Given the description of an element on the screen output the (x, y) to click on. 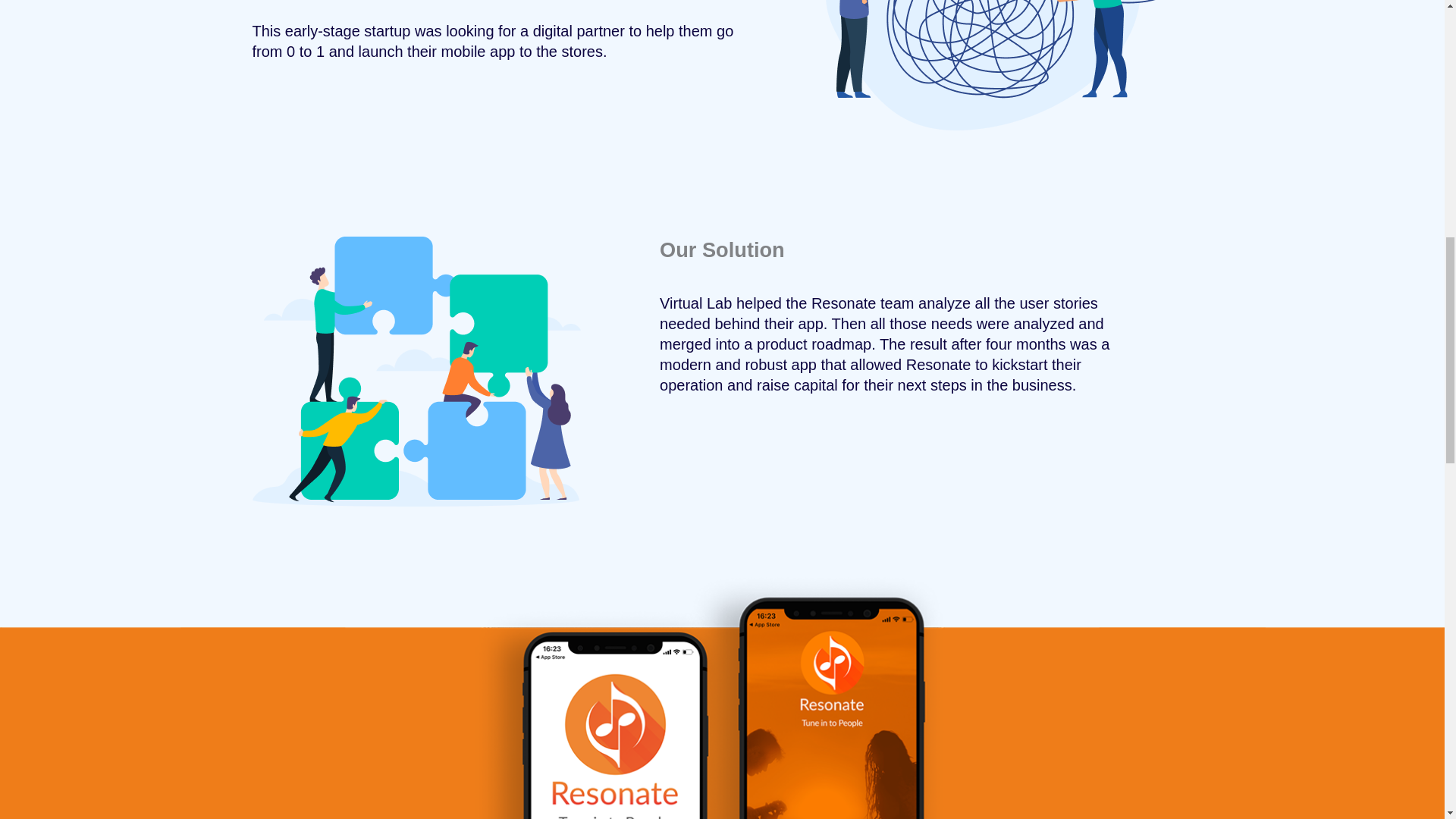
Frame (415, 371)
Group 40911 (1008, 65)
